Given the description of an element on the screen output the (x, y) to click on. 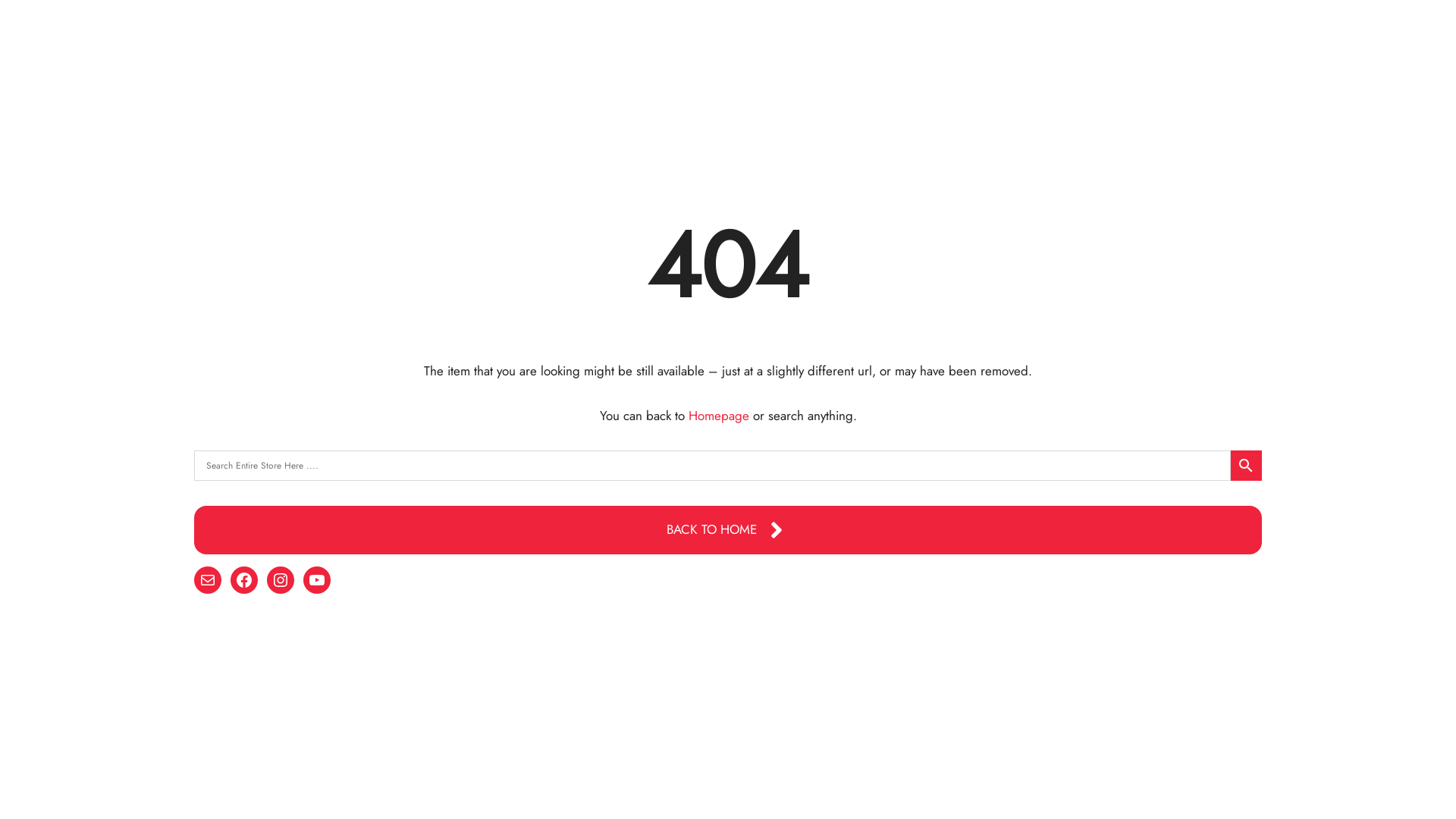
Homepage Element type: text (718, 415)
YouTube Element type: text (316, 579)
BACK TO HOME Element type: text (727, 529)
Facebook Element type: text (243, 579)
Instagram Element type: text (280, 579)
Mail Element type: text (207, 579)
